Given the description of an element on the screen output the (x, y) to click on. 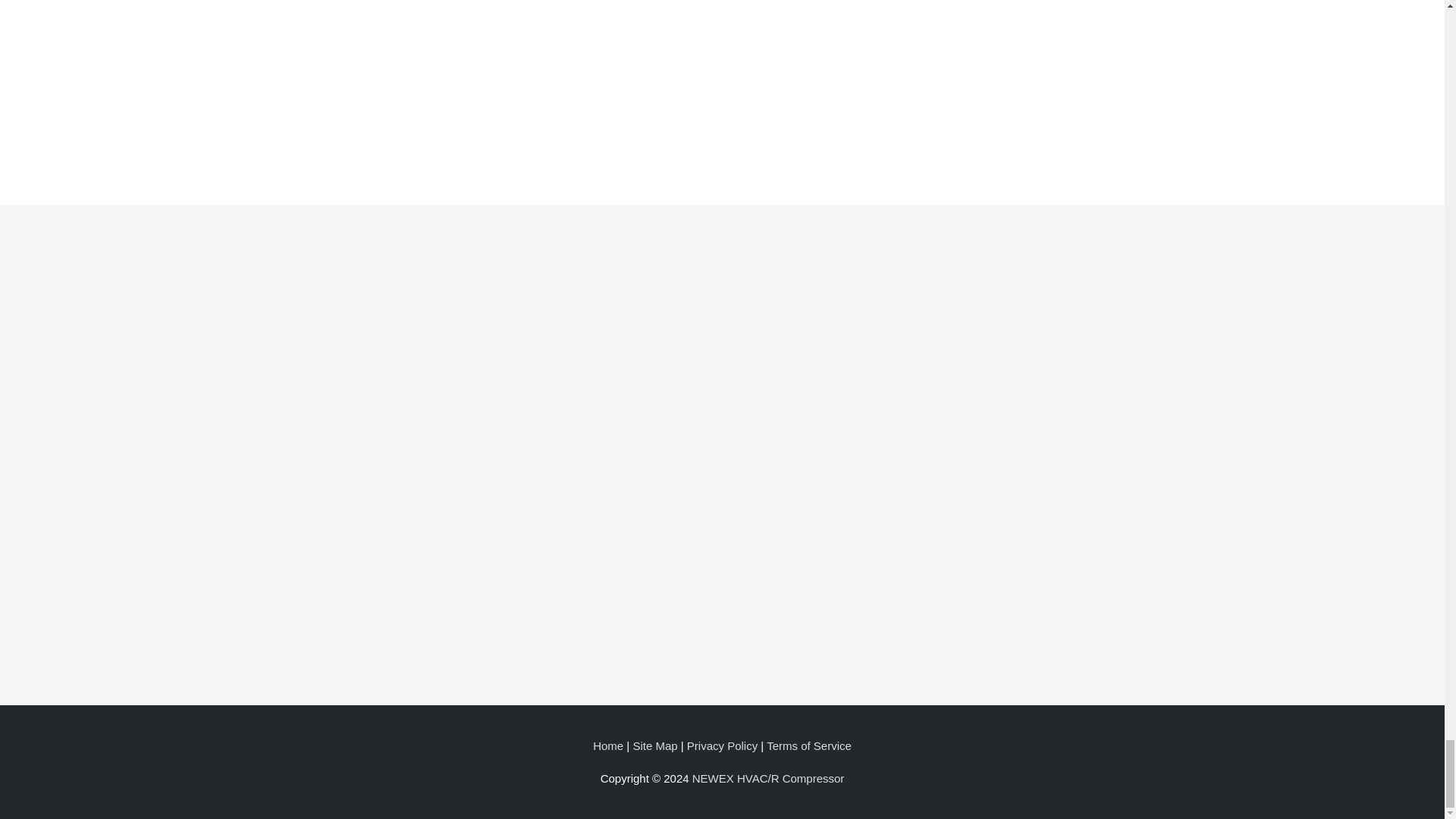
Home (607, 745)
Privacy Policy (722, 745)
Site Map (654, 745)
